Given the description of an element on the screen output the (x, y) to click on. 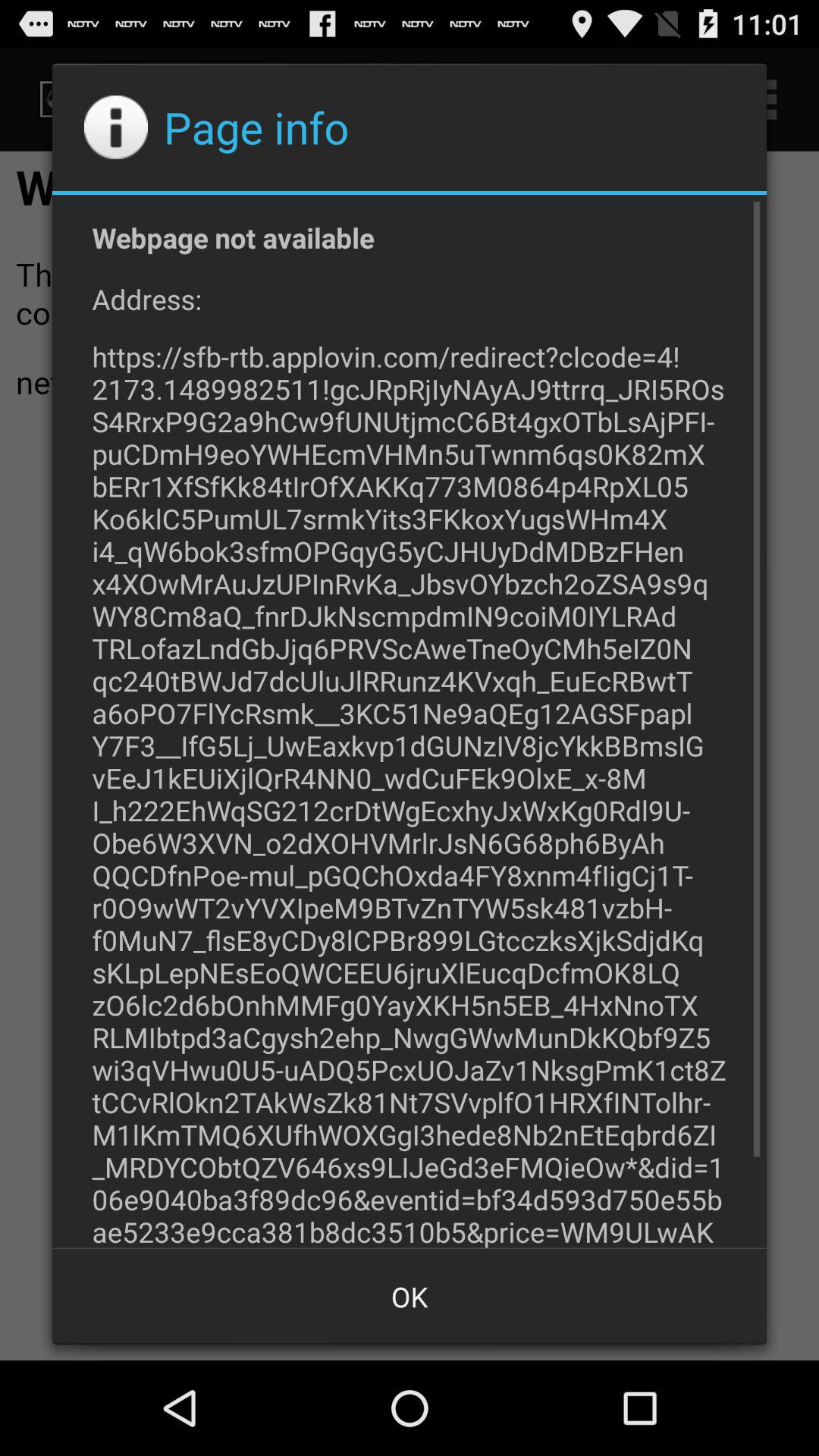
open the icon below the https sfb rtb item (409, 1296)
